Given the description of an element on the screen output the (x, y) to click on. 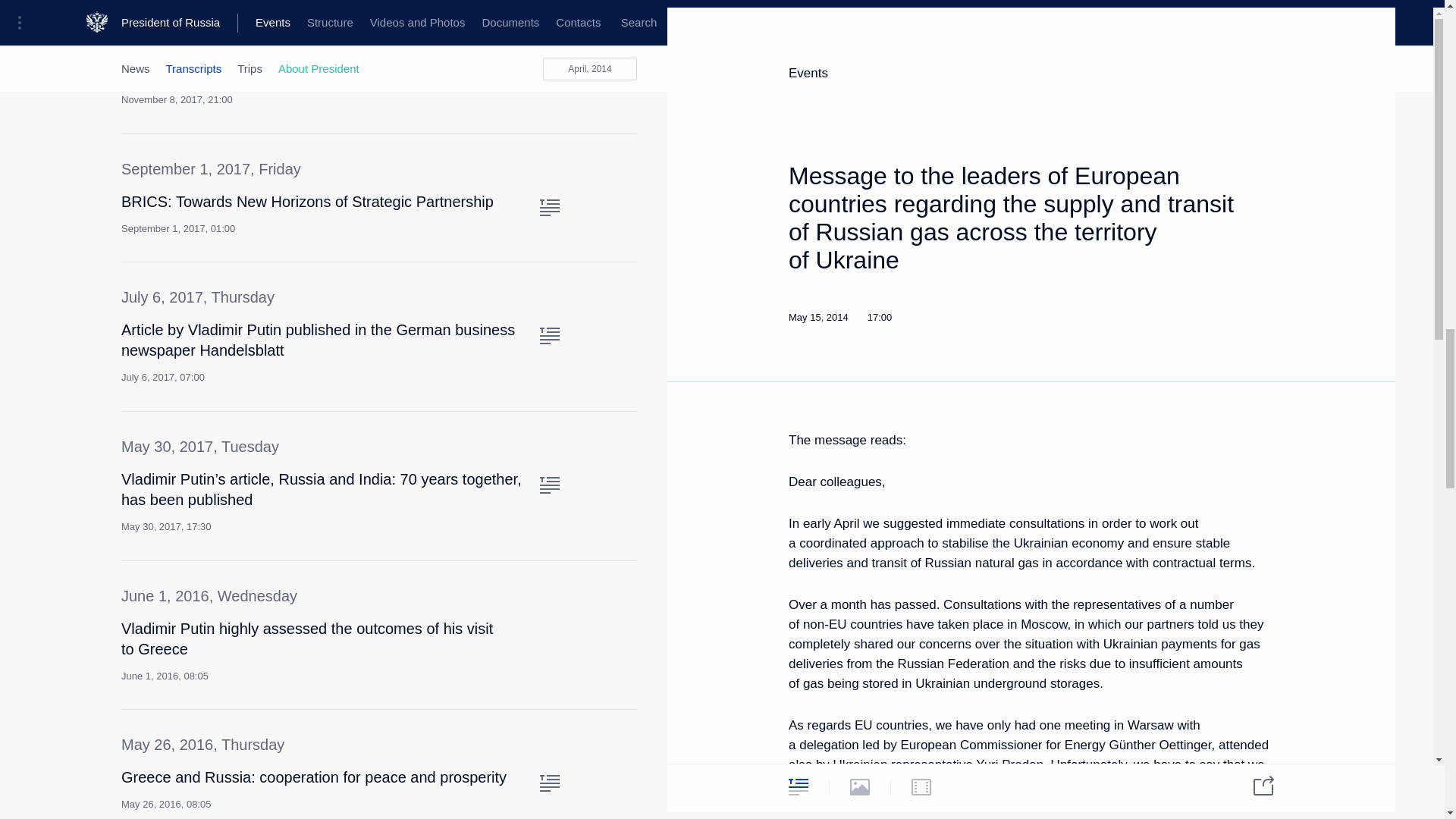
Text of the article (549, 484)
Text of the article (549, 634)
Text of the article (549, 207)
Text of the article (549, 37)
Text of the article (549, 782)
Text of the article (549, 335)
